Given the description of an element on the screen output the (x, y) to click on. 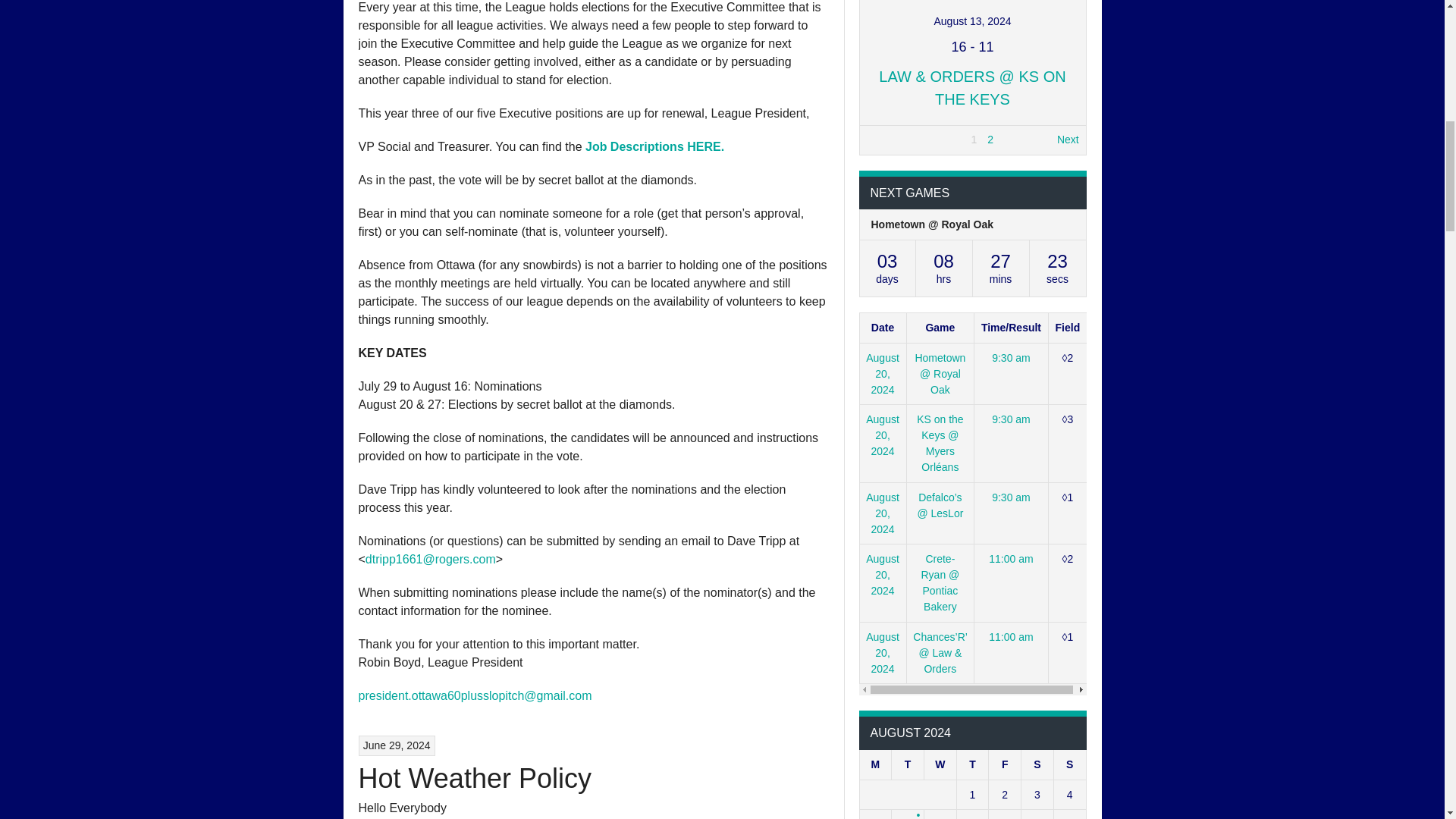
Thursday (972, 765)
KS on the Keys (1050, 34)
Friday (1005, 765)
Monday (875, 765)
Wednesday (939, 765)
Tuesday (907, 765)
